Given the description of an element on the screen output the (x, y) to click on. 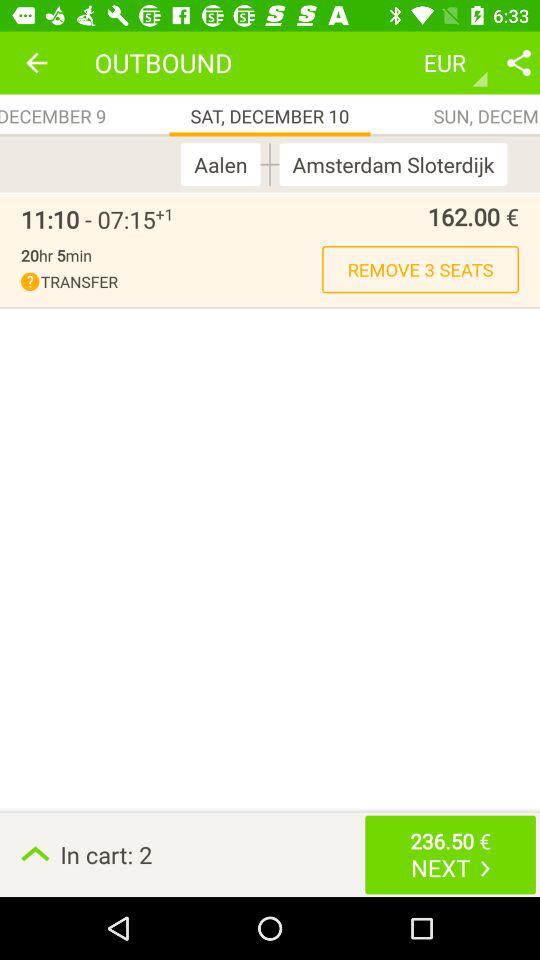
share option (519, 62)
